Given the description of an element on the screen output the (x, y) to click on. 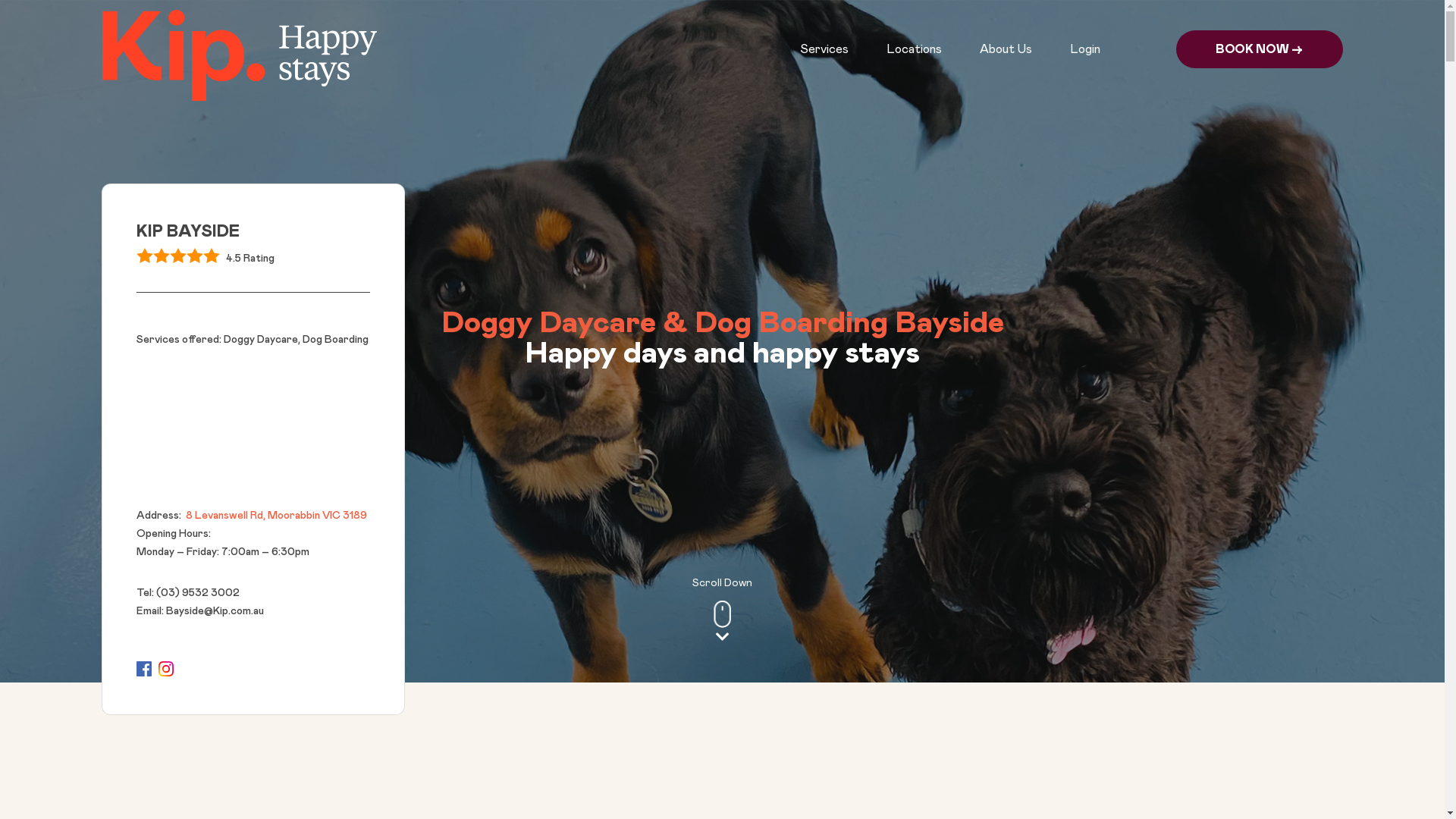
BOOK NOW Element type: text (1258, 49)
Services Element type: text (823, 49)
Locations Element type: text (913, 49)
(03) 9532 3002 Element type: text (195, 592)
About Us Element type: text (1005, 49)
Bayside@Kip.com.au Element type: text (213, 610)
4.5 Rating Element type: text (253, 258)
 8 Levanswell Rd, Moorabbin VIC 3189 Element type: text (275, 515)
Login Element type: text (1084, 49)
